Given the description of an element on the screen output the (x, y) to click on. 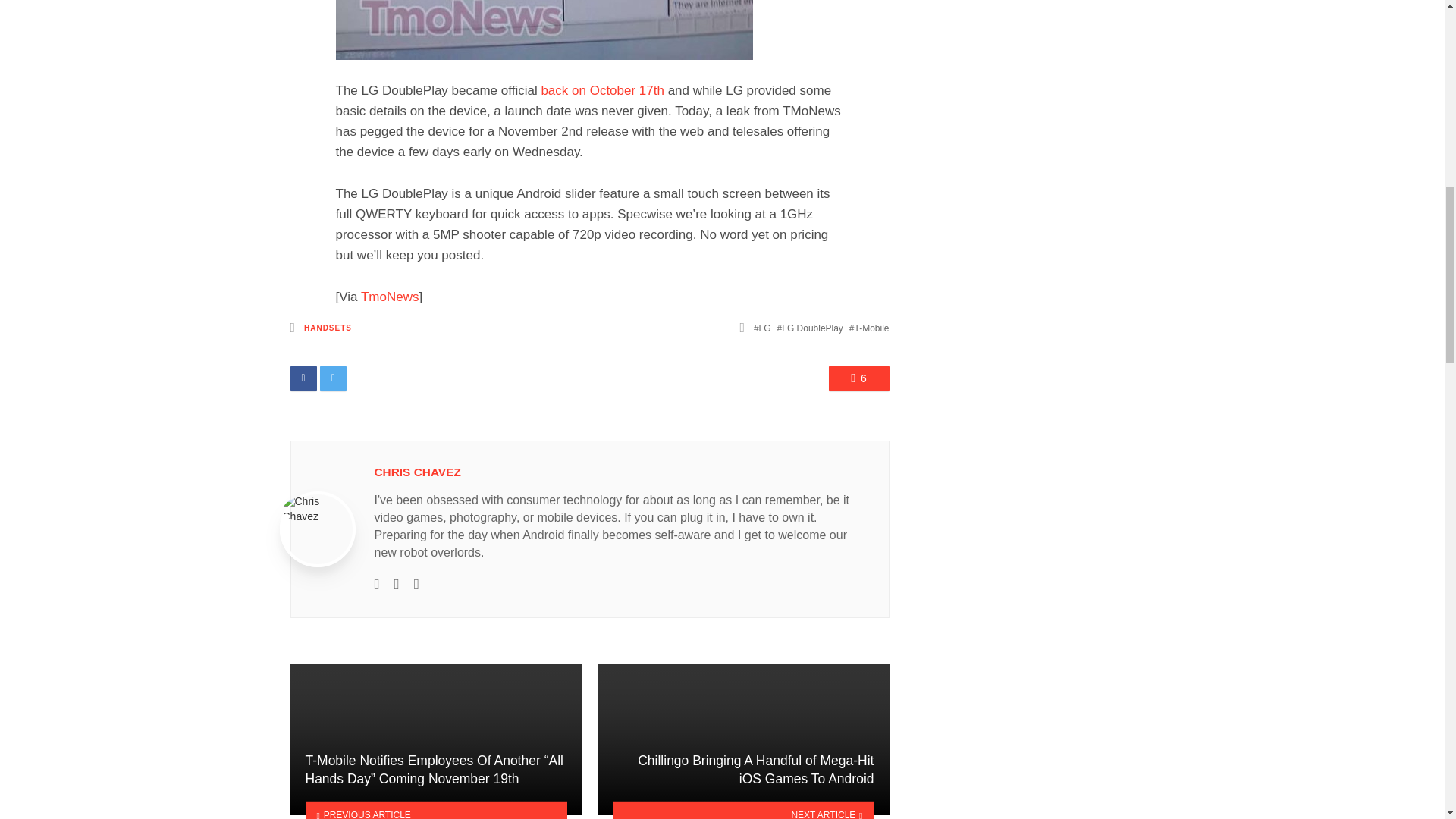
LG (762, 327)
Share on Twitter (333, 378)
TmoNews (390, 296)
back on October 17th (601, 90)
LGDoublePlaynov2 (543, 29)
HANDSETS (328, 328)
Share on Facebook (302, 378)
CHRIS CHAVEZ (417, 472)
6 Comments (858, 378)
LG DoublePlay (810, 327)
